Given the description of an element on the screen output the (x, y) to click on. 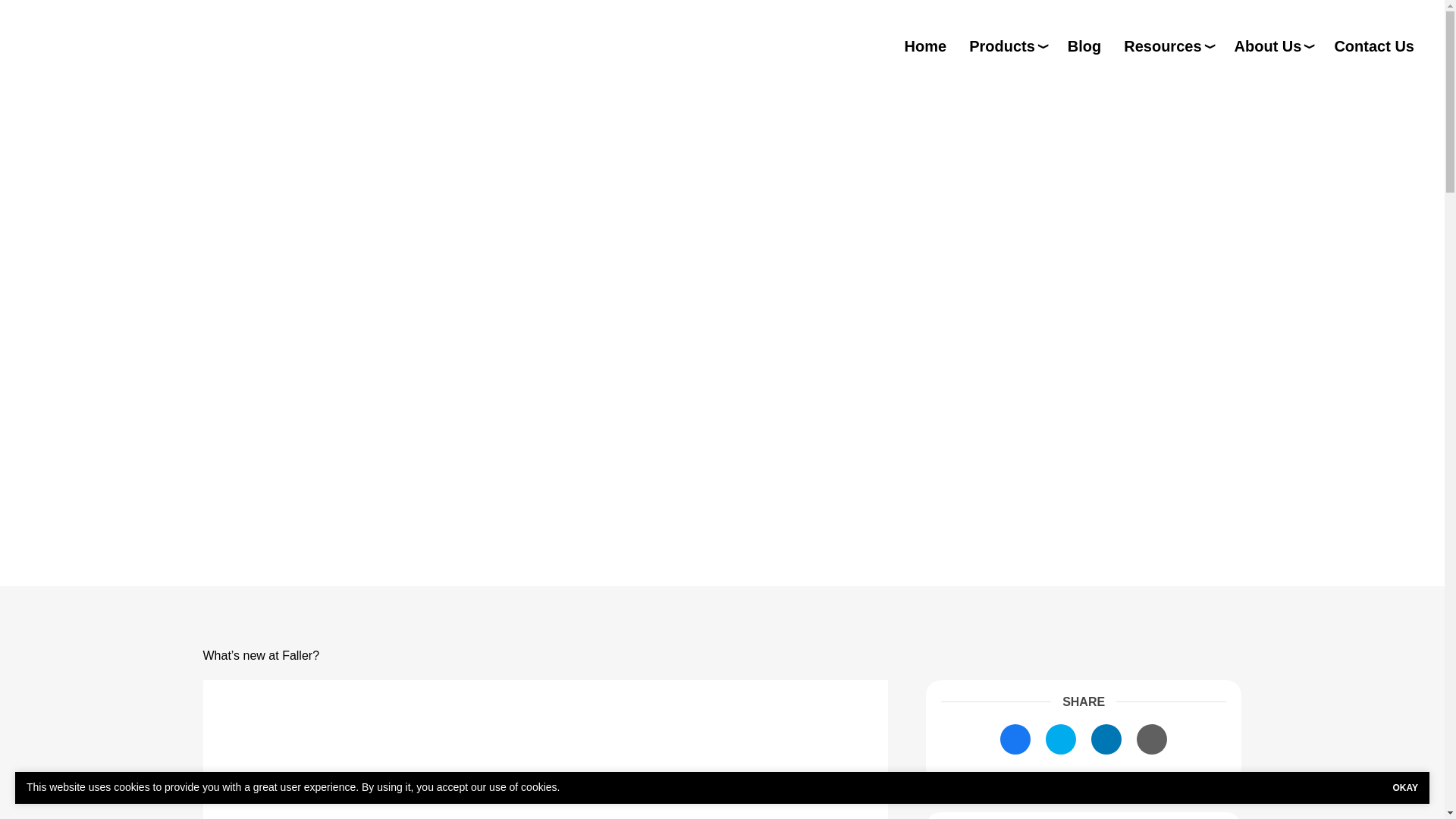
Blog (1083, 46)
Products (1007, 46)
Home (925, 46)
Resources (1167, 46)
